Given the description of an element on the screen output the (x, y) to click on. 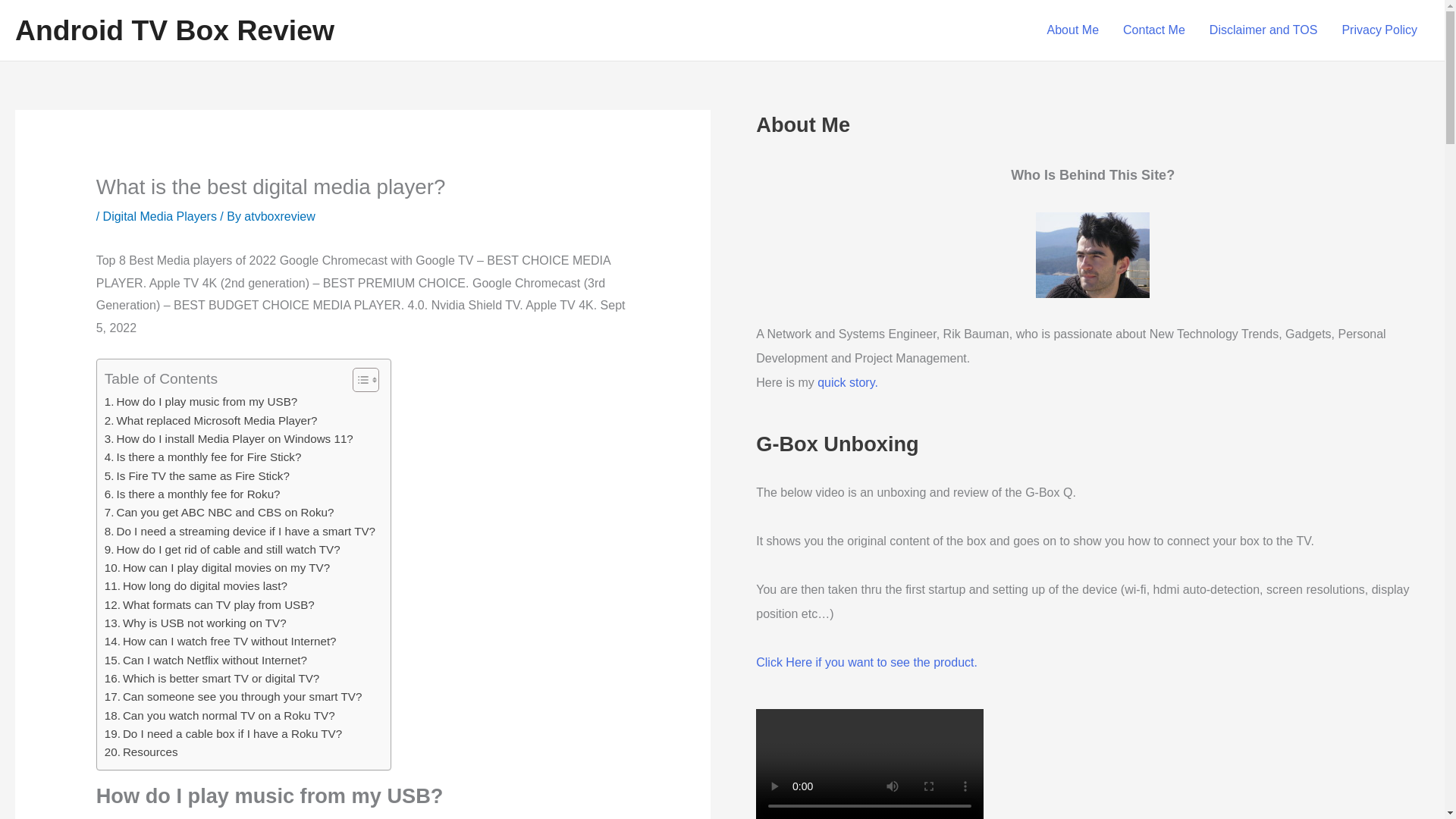
About Me (1072, 30)
Digital Media Players (159, 215)
Can you watch normal TV on a Roku TV? (219, 715)
How do I get rid of cable and still watch TV? (222, 549)
How can I play digital movies on my TV? (217, 567)
How do I play music from my USB? (201, 402)
How long do digital movies last? (195, 586)
Is Fire TV the same as Fire Stick? (196, 475)
Why is USB not working on TV? (195, 623)
Privacy Policy (1379, 30)
Do I need a streaming device if I have a smart TV? (239, 530)
Is Fire TV the same as Fire Stick? (196, 475)
What formats can TV play from USB? (209, 605)
How can I watch free TV without Internet? (220, 641)
How do I get rid of cable and still watch TV? (222, 549)
